Given the description of an element on the screen output the (x, y) to click on. 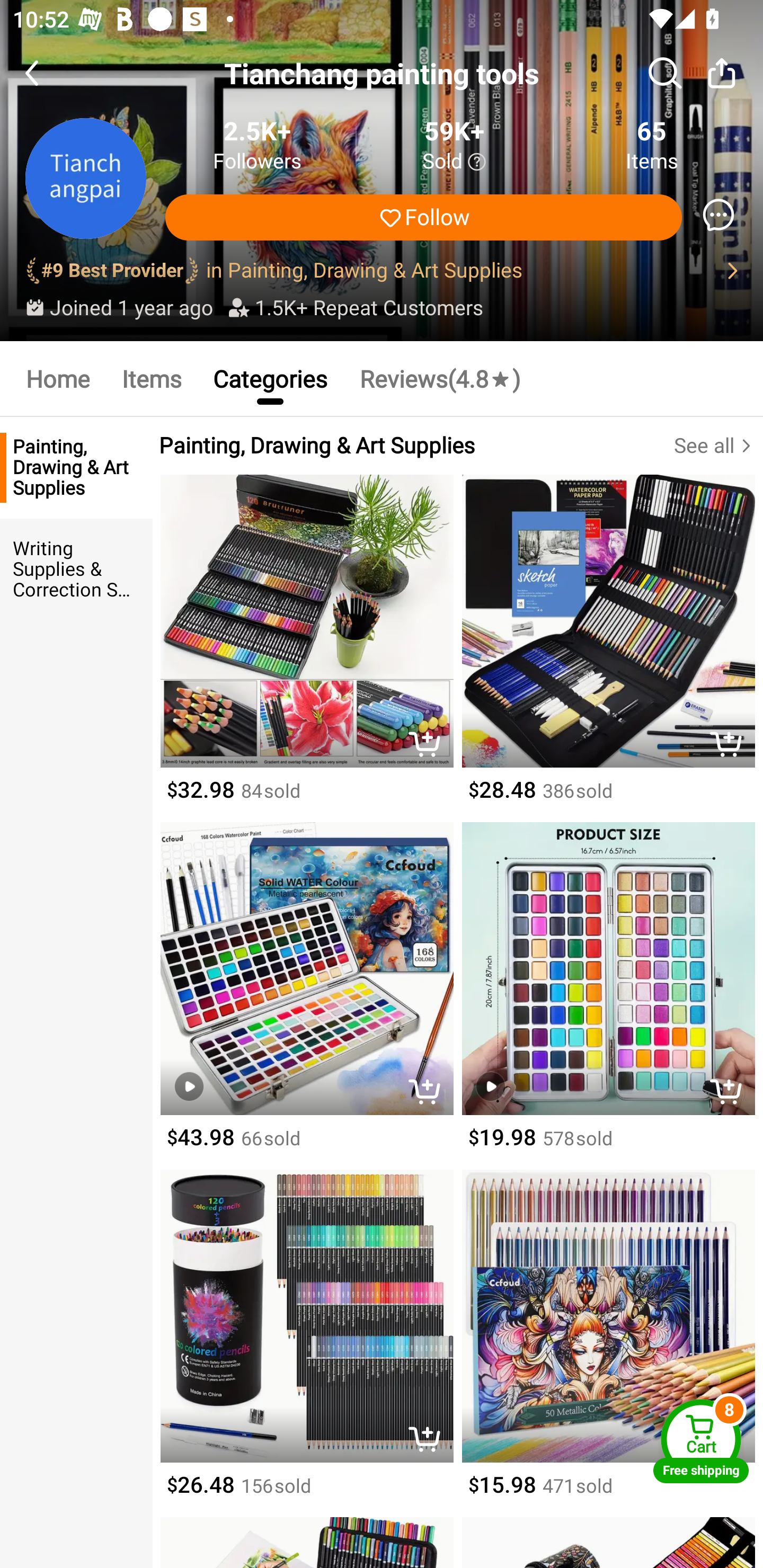
back (47, 72)
share (721, 72)
Sold (453, 161)
Home (57, 378)
Items (150, 378)
Categories (269, 378)
Reviews(4.8 ) (439, 378)
Painting, Drawing & Art Supplies (76, 468)
See all (718, 445)
delete $32.98 84￼sold (306, 648)
delete $28.48 386￼sold (608, 648)
Writing Supplies & Correction Supplies (76, 569)
delete (429, 746)
delete (731, 746)
delete $43.98 66￼sold (306, 995)
delete $19.98 578￼sold (608, 995)
delete (429, 1093)
delete (731, 1093)
delete $26.48 156￼sold (306, 1343)
delete $15.98 471￼sold (608, 1343)
Cart Free shipping Cart (701, 1440)
delete (429, 1440)
